Given the description of an element on the screen output the (x, y) to click on. 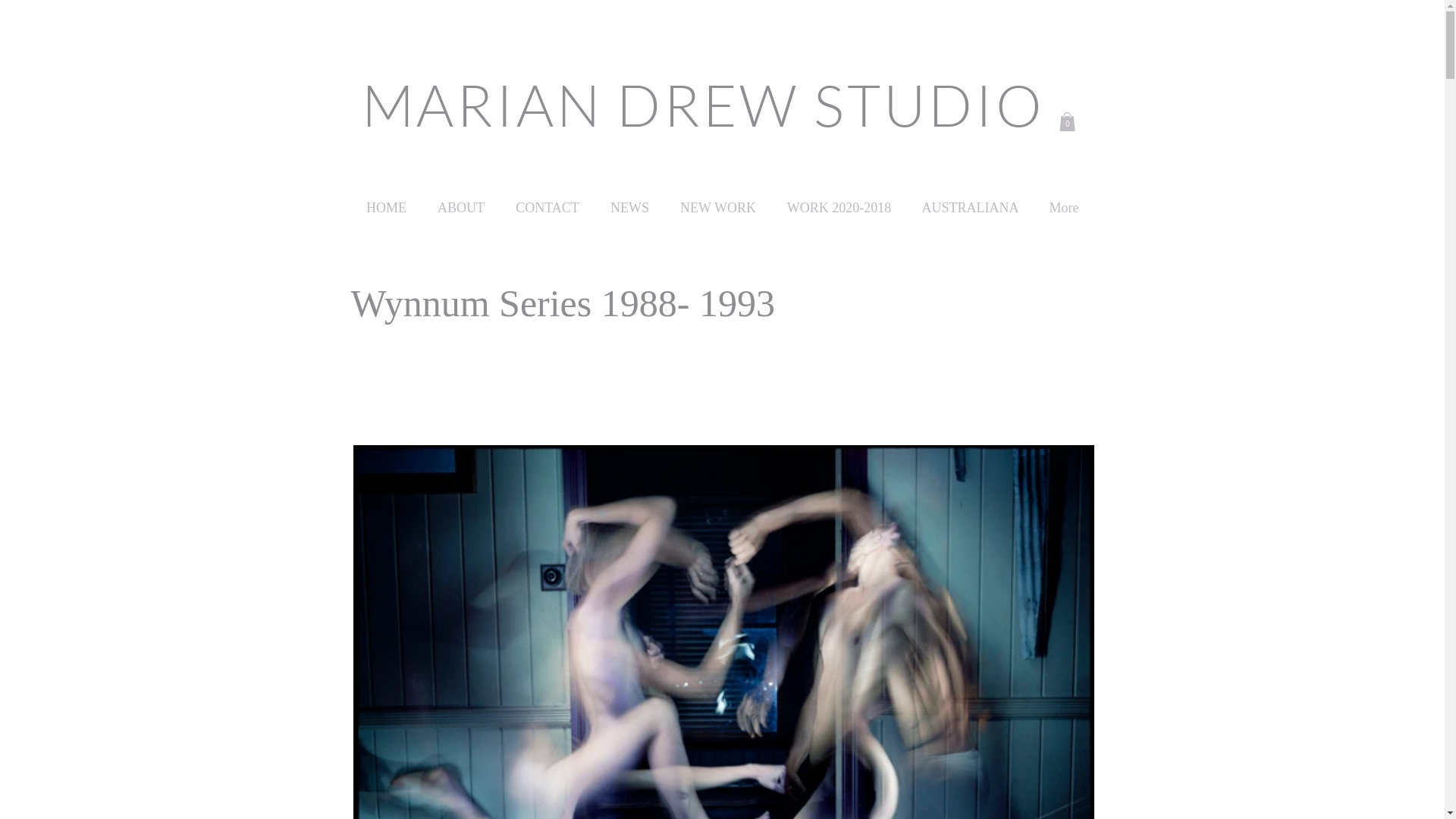
NEWS Element type: text (629, 200)
0 Element type: text (1066, 121)
MARIAN DREW STUDIO Element type: text (702, 104)
WORK 2020-2018 Element type: text (838, 200)
HOME Element type: text (385, 200)
AUSTRALIANA Element type: text (970, 200)
ABOUT Element type: text (460, 200)
NEW WORK Element type: text (717, 200)
CONTACT Element type: text (547, 200)
